Given the description of an element on the screen output the (x, y) to click on. 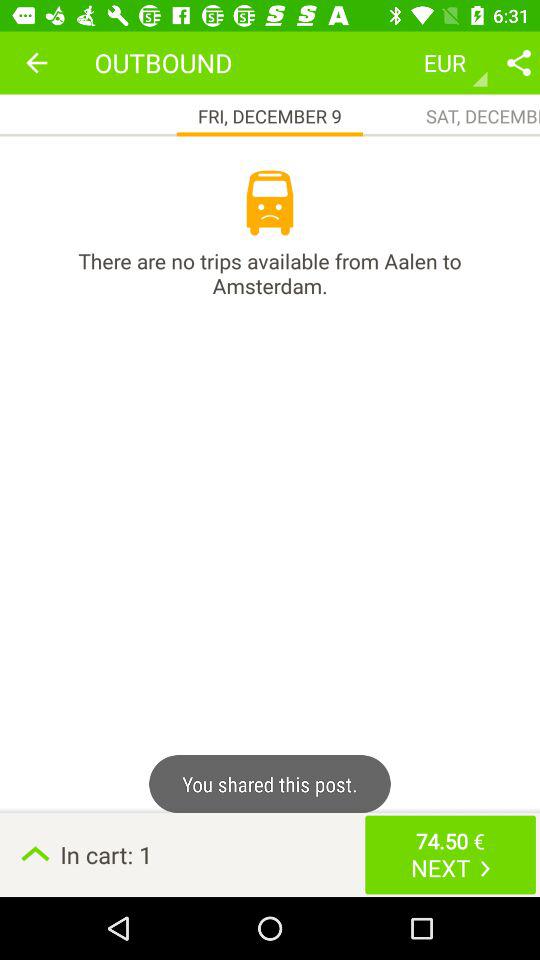
share your post (519, 62)
